Given the description of an element on the screen output the (x, y) to click on. 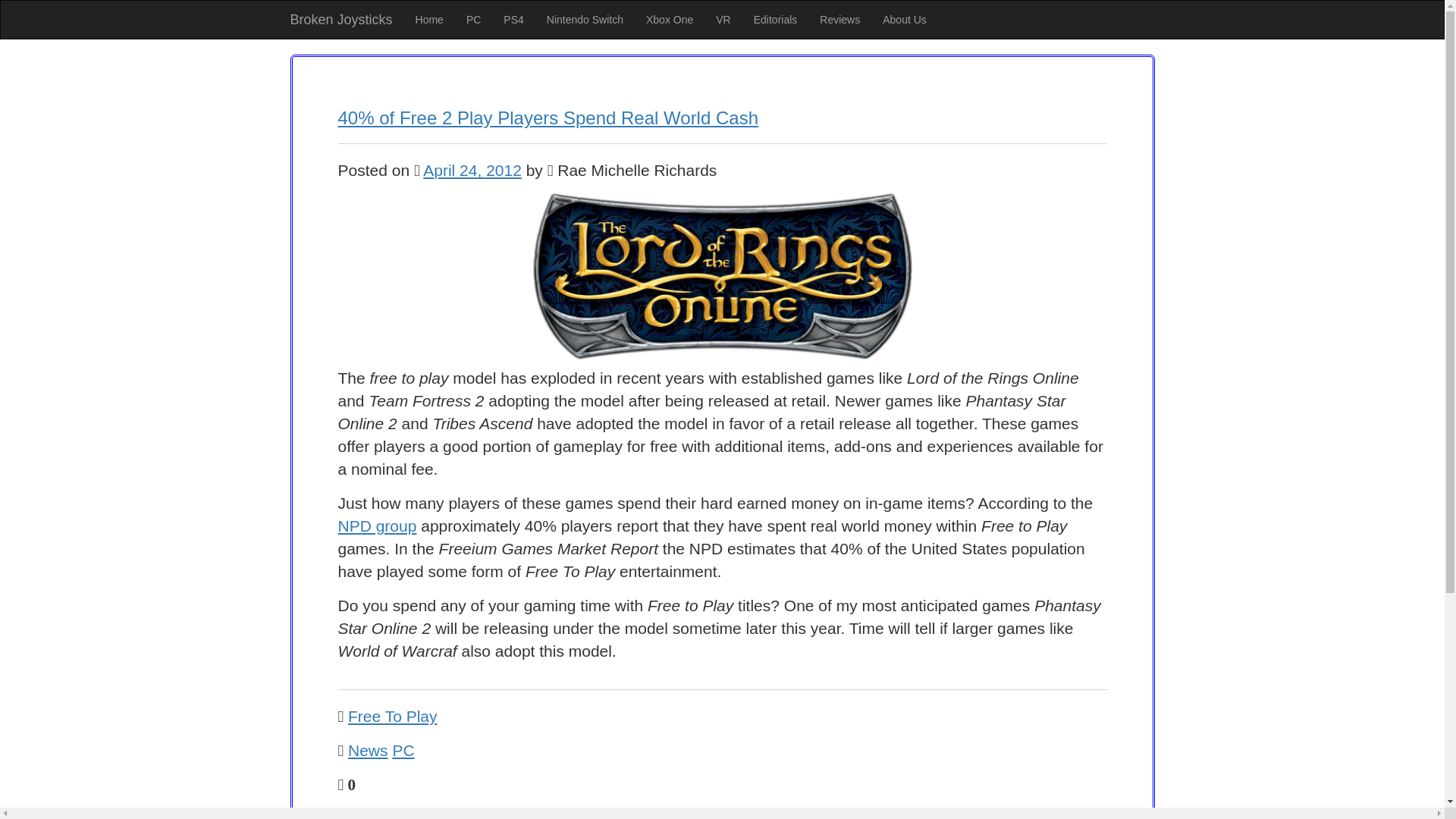
Xbox One (669, 19)
VR (722, 19)
April 24, 2012 (472, 170)
About Us (903, 19)
Home (429, 19)
PS4 (513, 19)
Nintendo Switch (584, 19)
PS4 (513, 19)
About Us (903, 19)
Xbox One (669, 19)
